Given the description of an element on the screen output the (x, y) to click on. 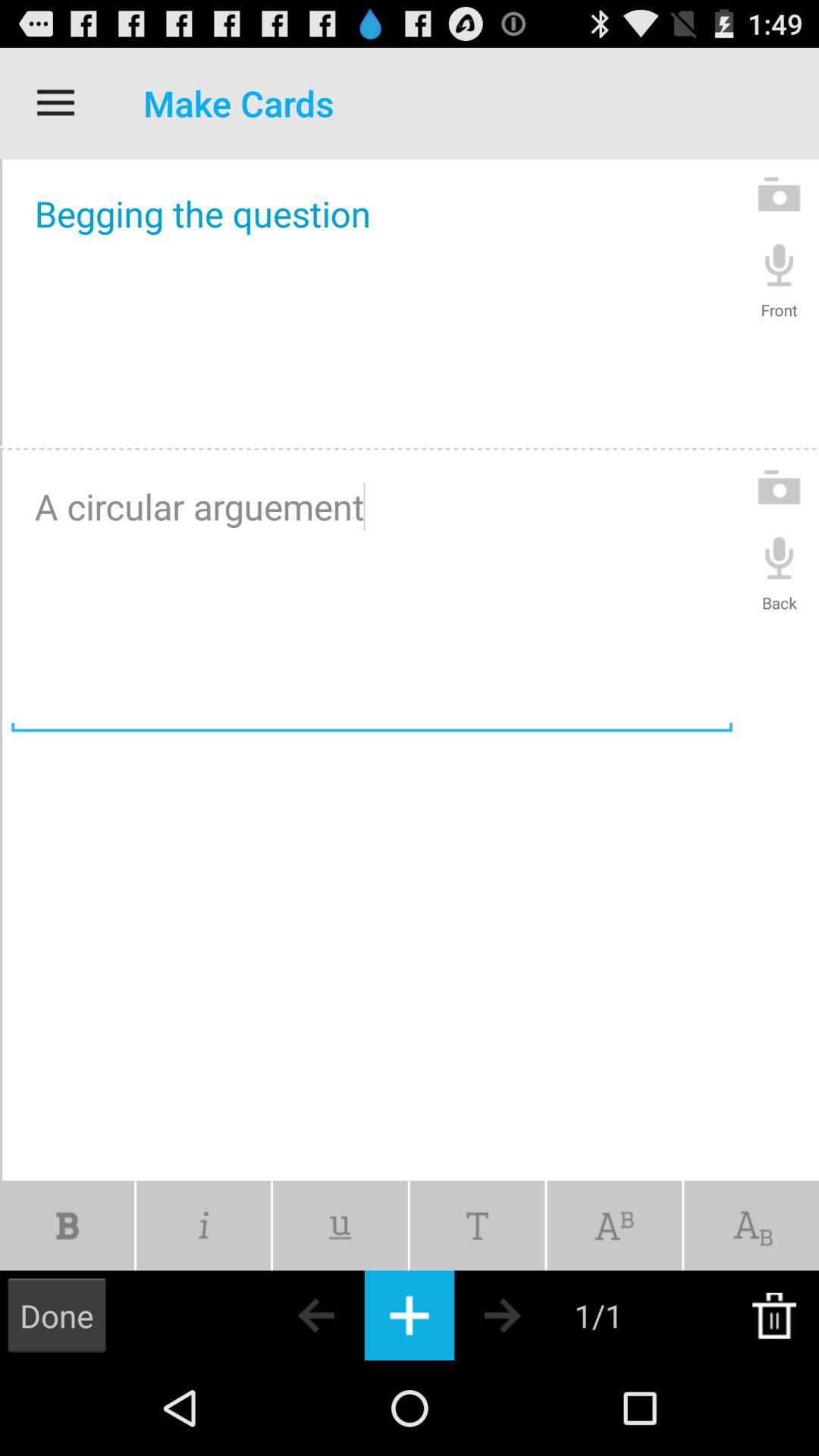
turn off item below a circular arguement (751, 1225)
